Given the description of an element on the screen output the (x, y) to click on. 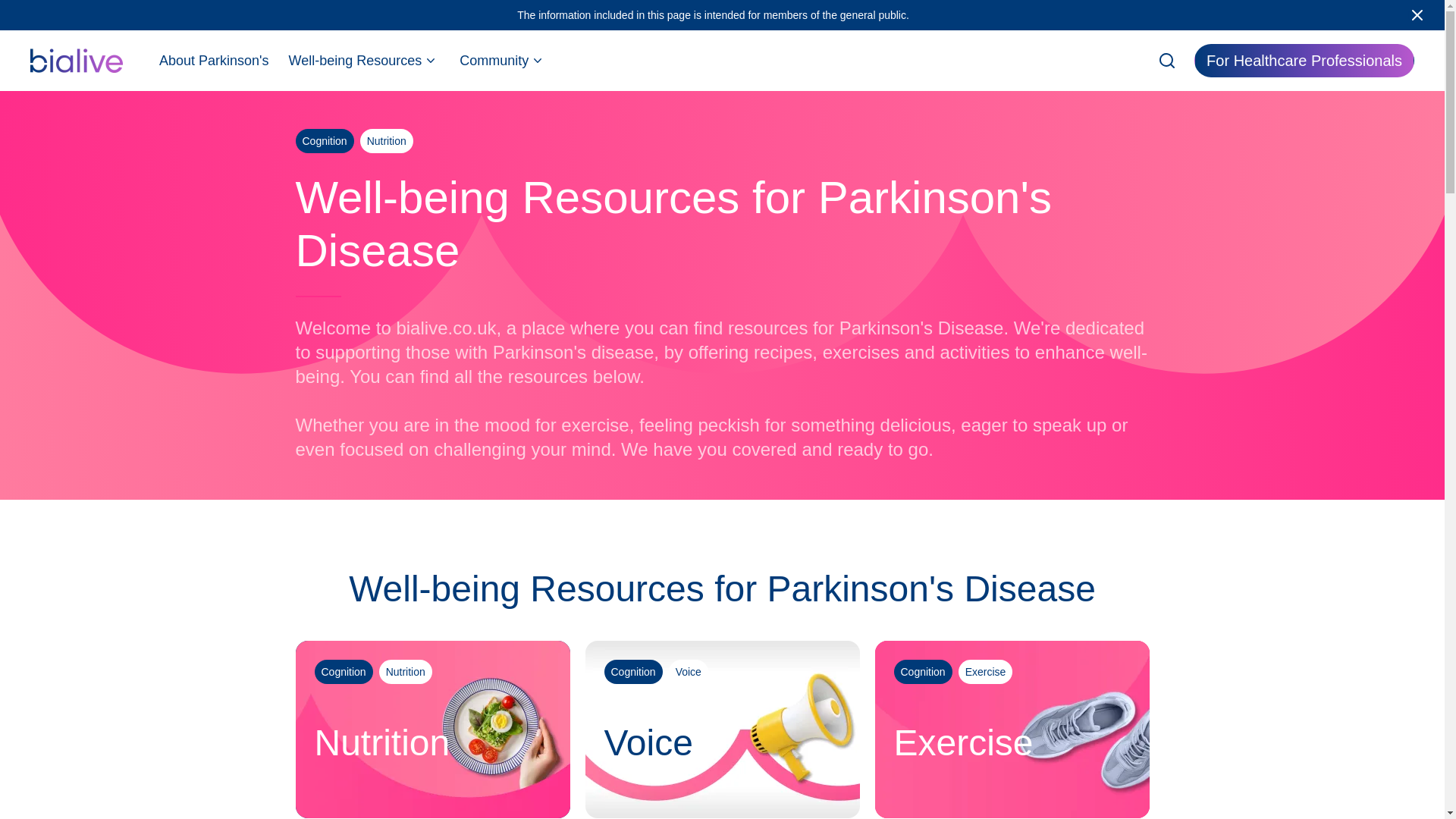
For Healthcare Professionals (1303, 60)
About Parkinson's (213, 60)
Well-being Resources (364, 60)
Community (502, 60)
